Given the description of an element on the screen output the (x, y) to click on. 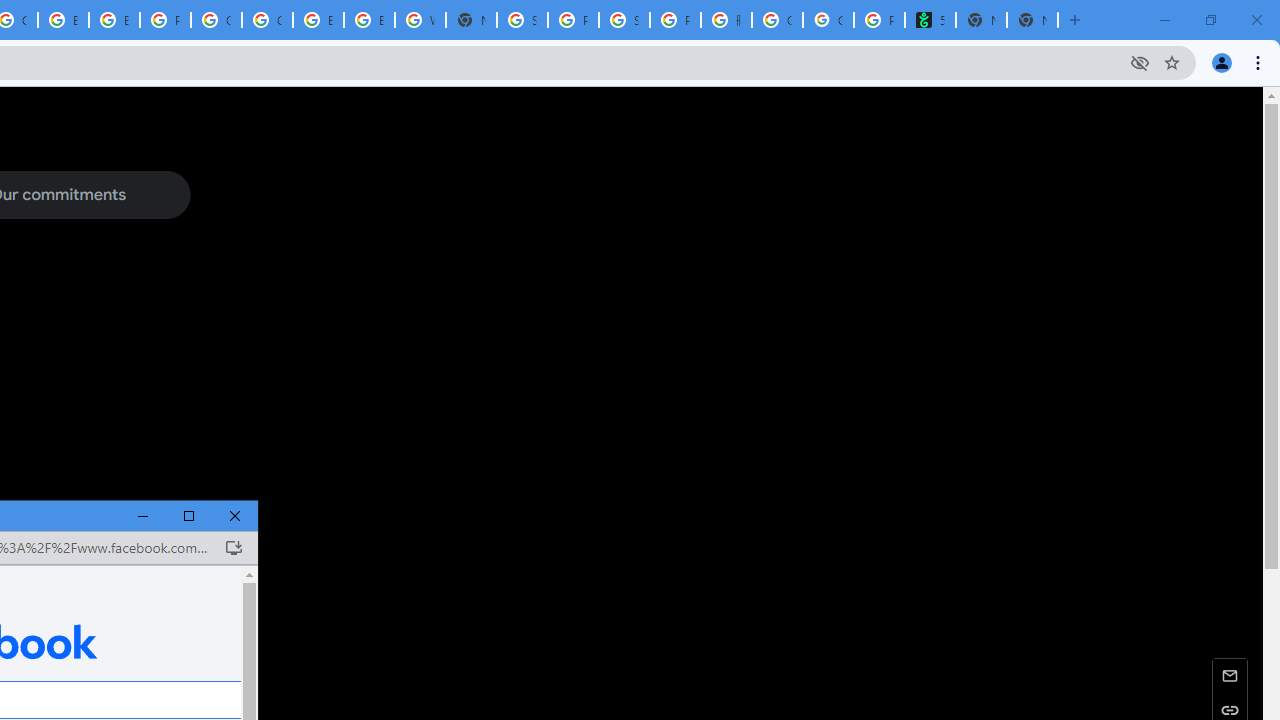
Install Facebook (233, 547)
Browse Chrome as a guest - Computer - Google Chrome Help (63, 20)
Maximize (189, 516)
Sign in - Google Accounts (521, 20)
